Given the description of an element on the screen output the (x, y) to click on. 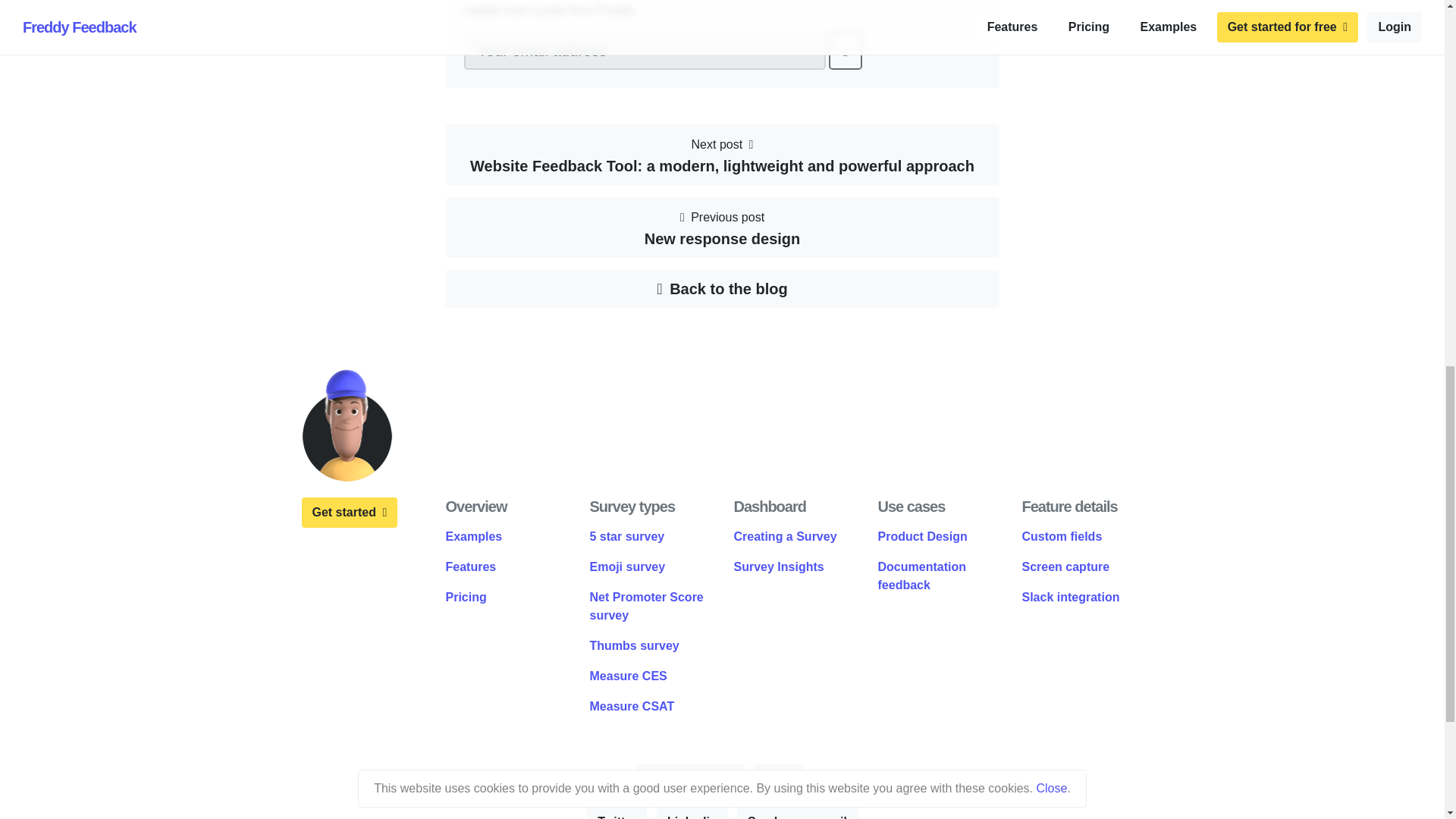
Emoji survey (627, 566)
Back to the blog (721, 288)
Documentation feedback (921, 575)
Creating a Survey (785, 535)
Thumbs survey (721, 227)
Examples (634, 645)
Measure CSAT (473, 535)
Send us an email (632, 706)
5 star survey (796, 812)
Linkedin (627, 535)
Get started (692, 812)
Slack integration (349, 512)
Measure CES (1070, 596)
